Given the description of an element on the screen output the (x, y) to click on. 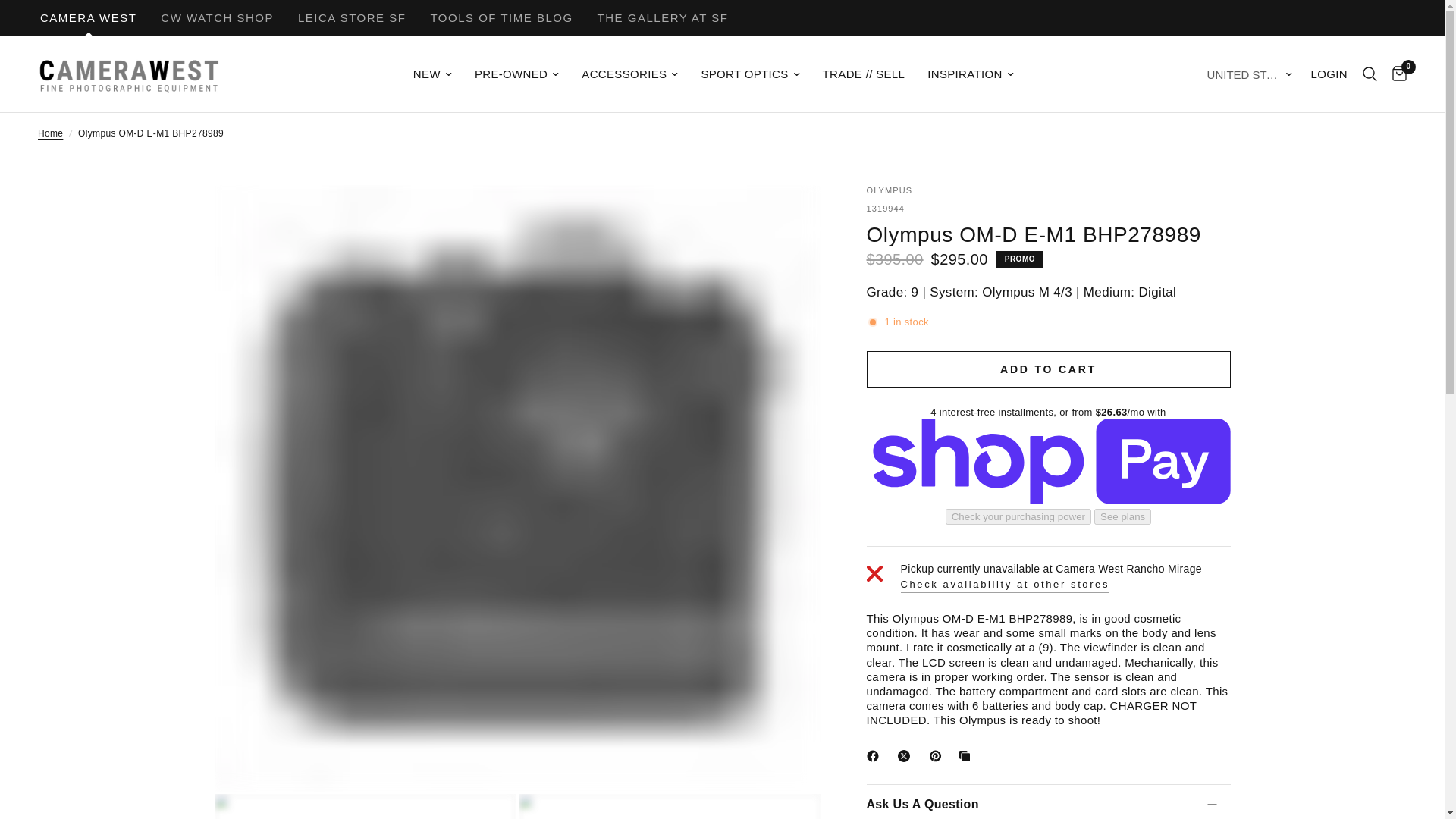
TOOLS OF TIME BLOG (500, 18)
CW WATCH SHOP (216, 18)
LEICA STORE SF (352, 18)
THE GALLERY AT SF (663, 18)
CAMERA WEST (87, 18)
